Given the description of an element on the screen output the (x, y) to click on. 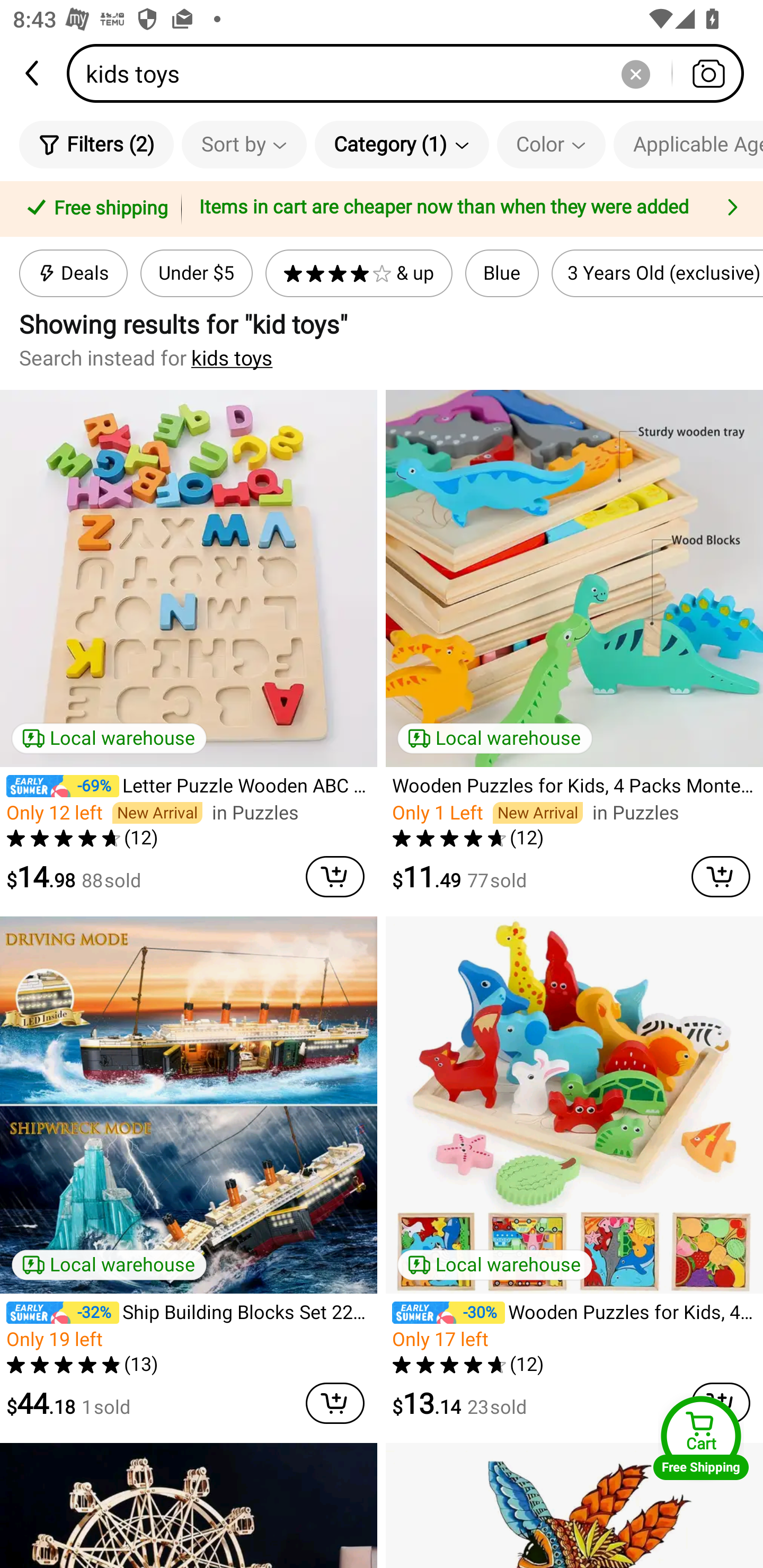
back (33, 72)
kids toys (411, 73)
Delete search history (635, 73)
Search by photo (708, 73)
Filters (2) (96, 143)
Sort by (243, 143)
Category (1) (401, 143)
Color (550, 143)
Applicable Age Group (688, 143)
 Free shipping (93, 208)
Deals (73, 273)
Under $5 (196, 273)
& up (358, 273)
Blue (501, 273)
3 Years Old (exclusive) - 6 Years Old (inclusive) (657, 273)
kids toys (232, 358)
Cart Free Shipping Cart (701, 1437)
